Given the description of an element on the screen output the (x, y) to click on. 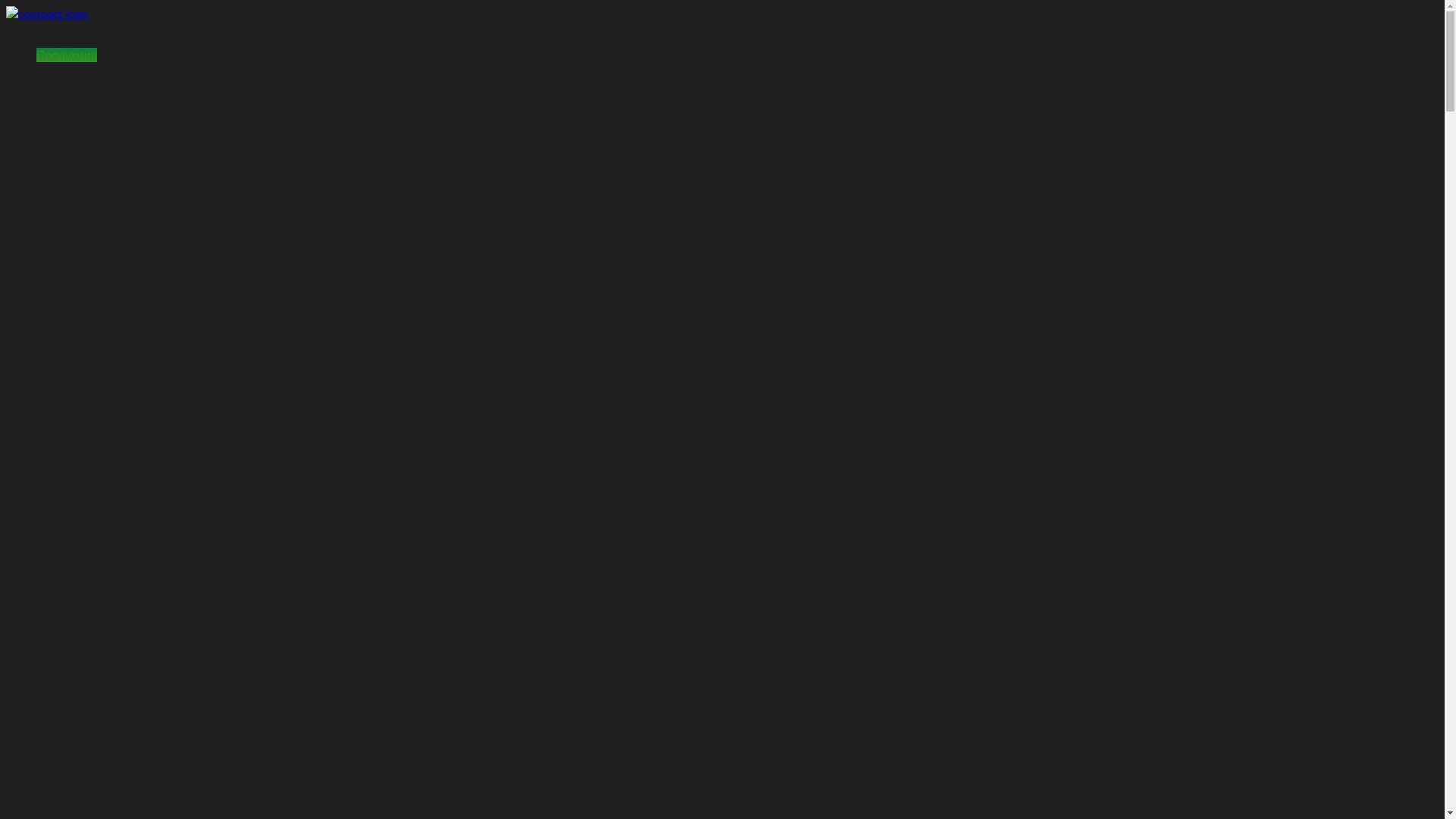
Hanbud Element type: text (148, 191)
Ruflex Element type: text (144, 339)
IKO Element type: text (138, 325)
Blachotrapez Element type: text (161, 205)
Metrobond Element type: text (157, 295)
